Given the description of an element on the screen output the (x, y) to click on. 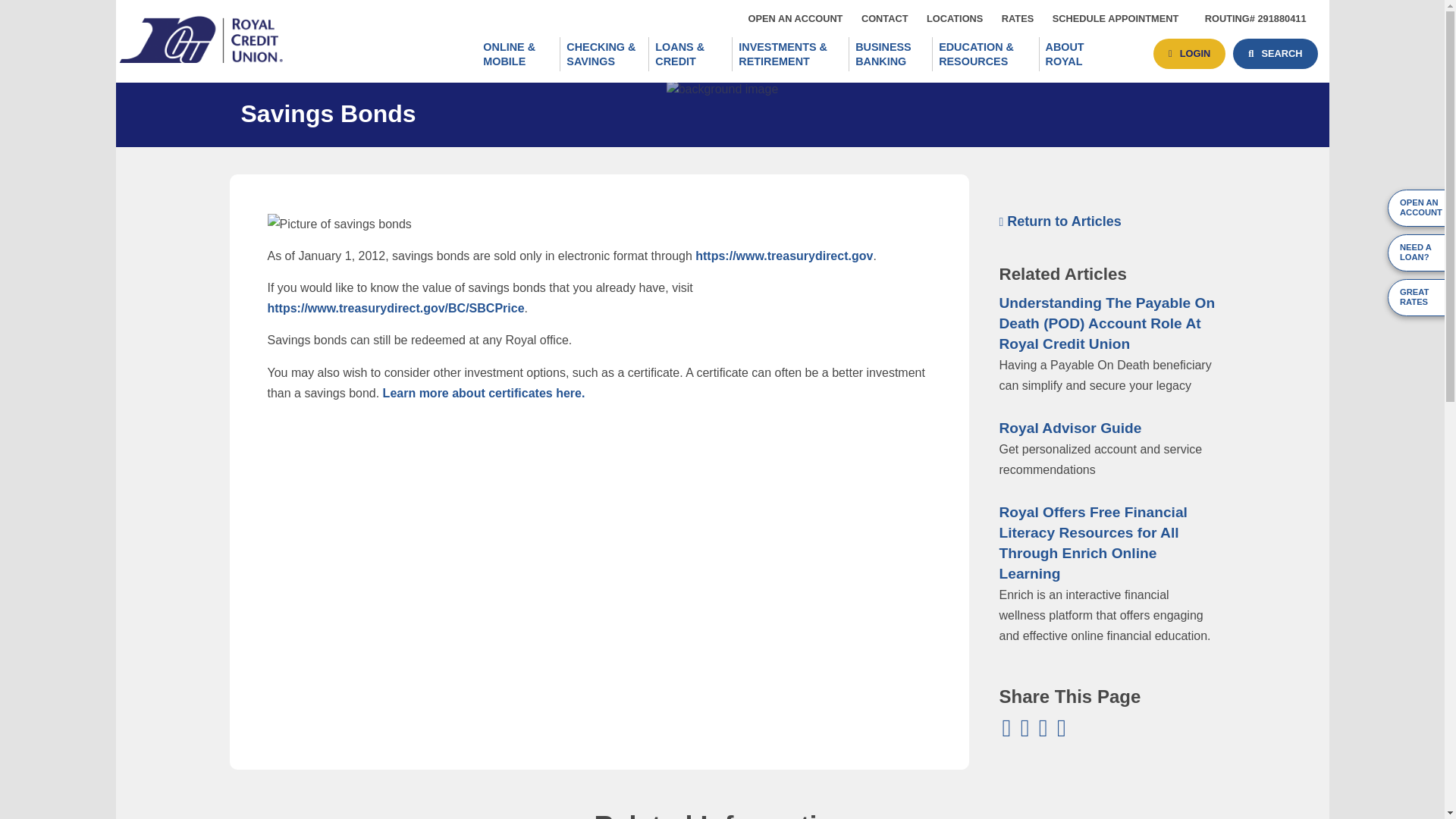
RCU (1017, 18)
